Given the description of an element on the screen output the (x, y) to click on. 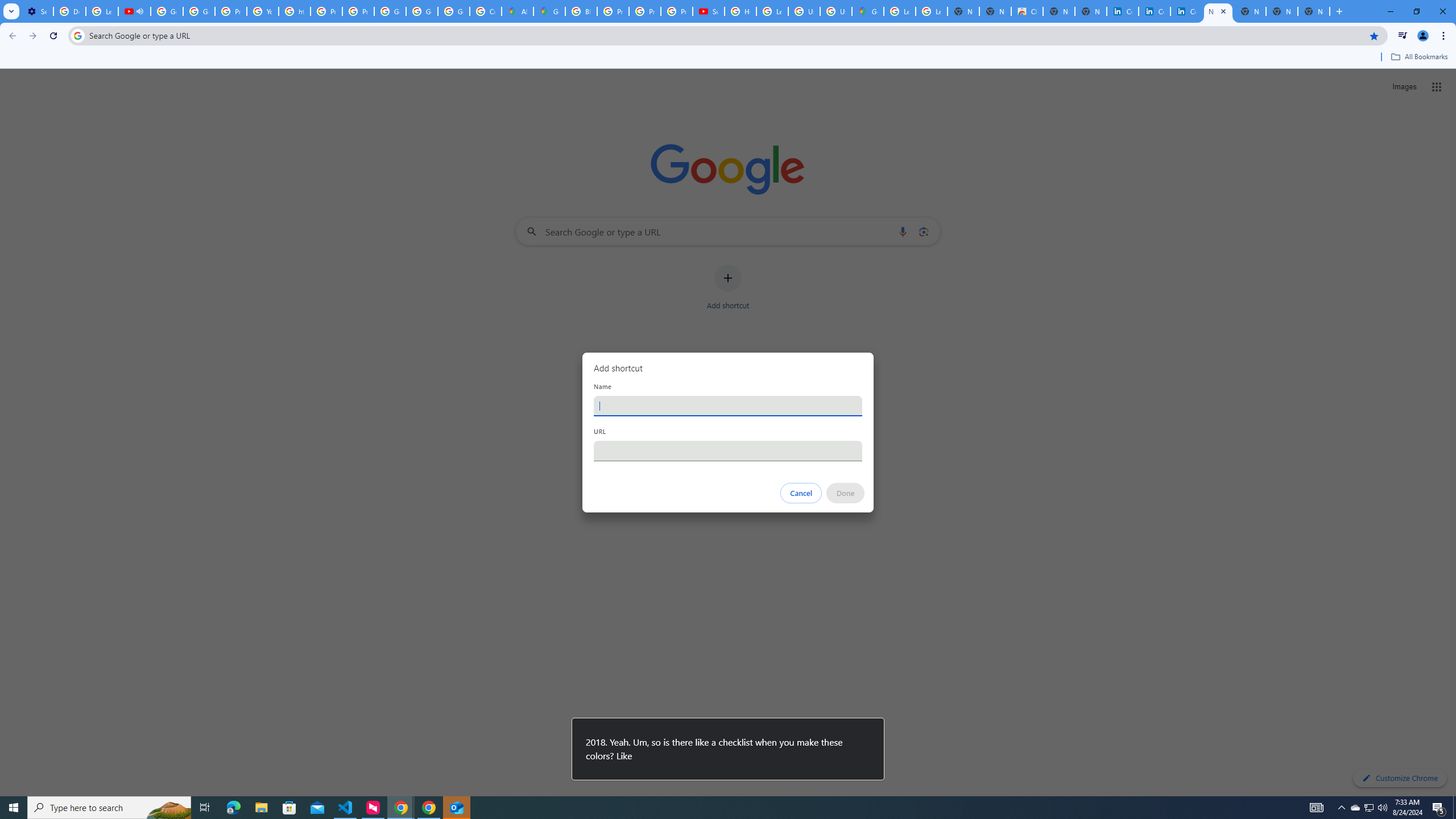
Done (845, 493)
Blogger Policies and Guidelines - Transparency Center (581, 11)
URL (727, 450)
Cookie Policy | LinkedIn (1123, 11)
Privacy Help Center - Policies Help (230, 11)
Chrome Web Store (1027, 11)
